Given the description of an element on the screen output the (x, y) to click on. 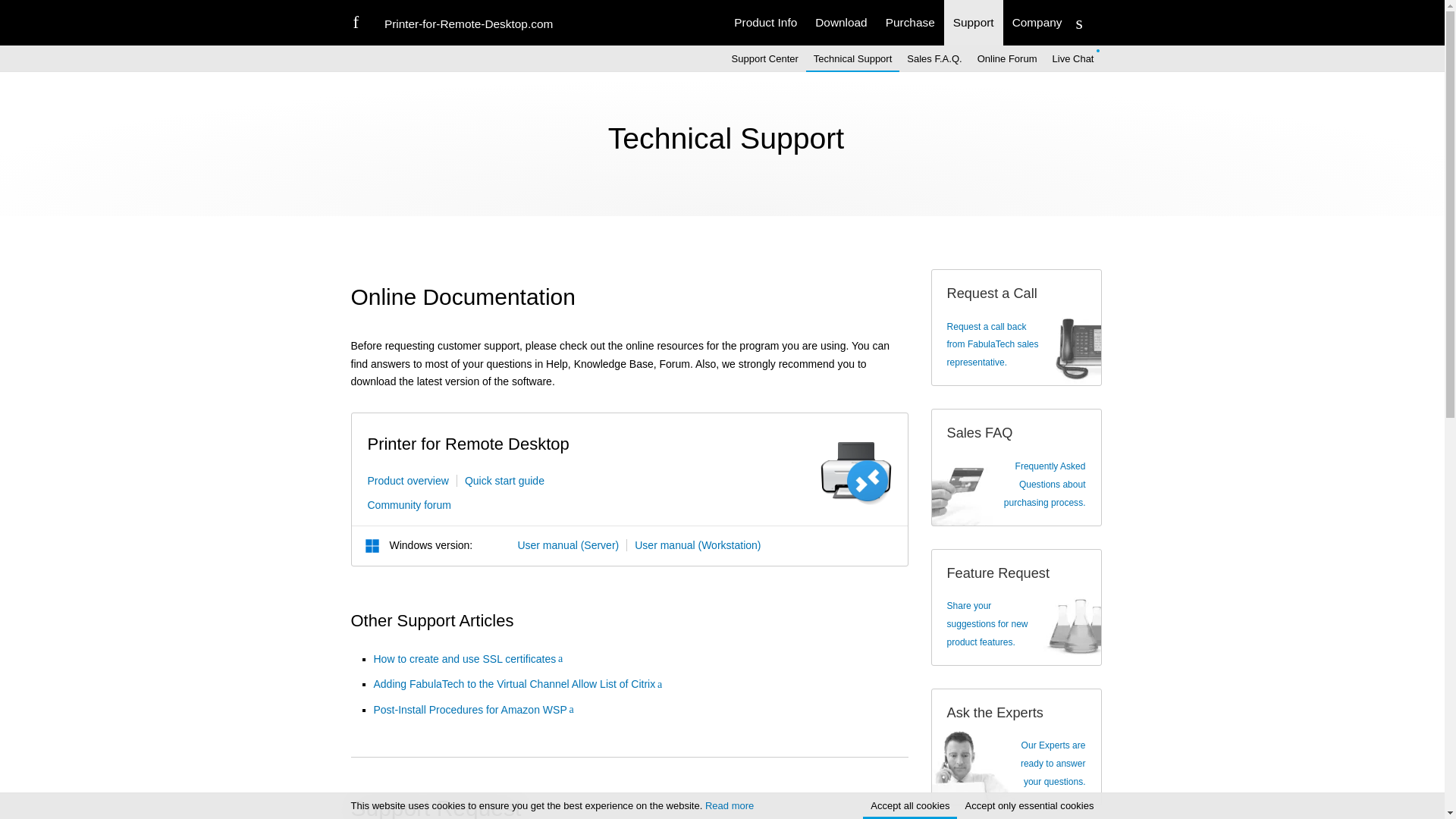
Product overview (407, 480)
Company (1037, 22)
Download (841, 22)
Online Forum (1007, 58)
Technical Support (852, 58)
Read more (729, 805)
Support Center (764, 58)
Community forum (407, 504)
Live Chat (1073, 58)
Support (973, 22)
